Given the description of an element on the screen output the (x, y) to click on. 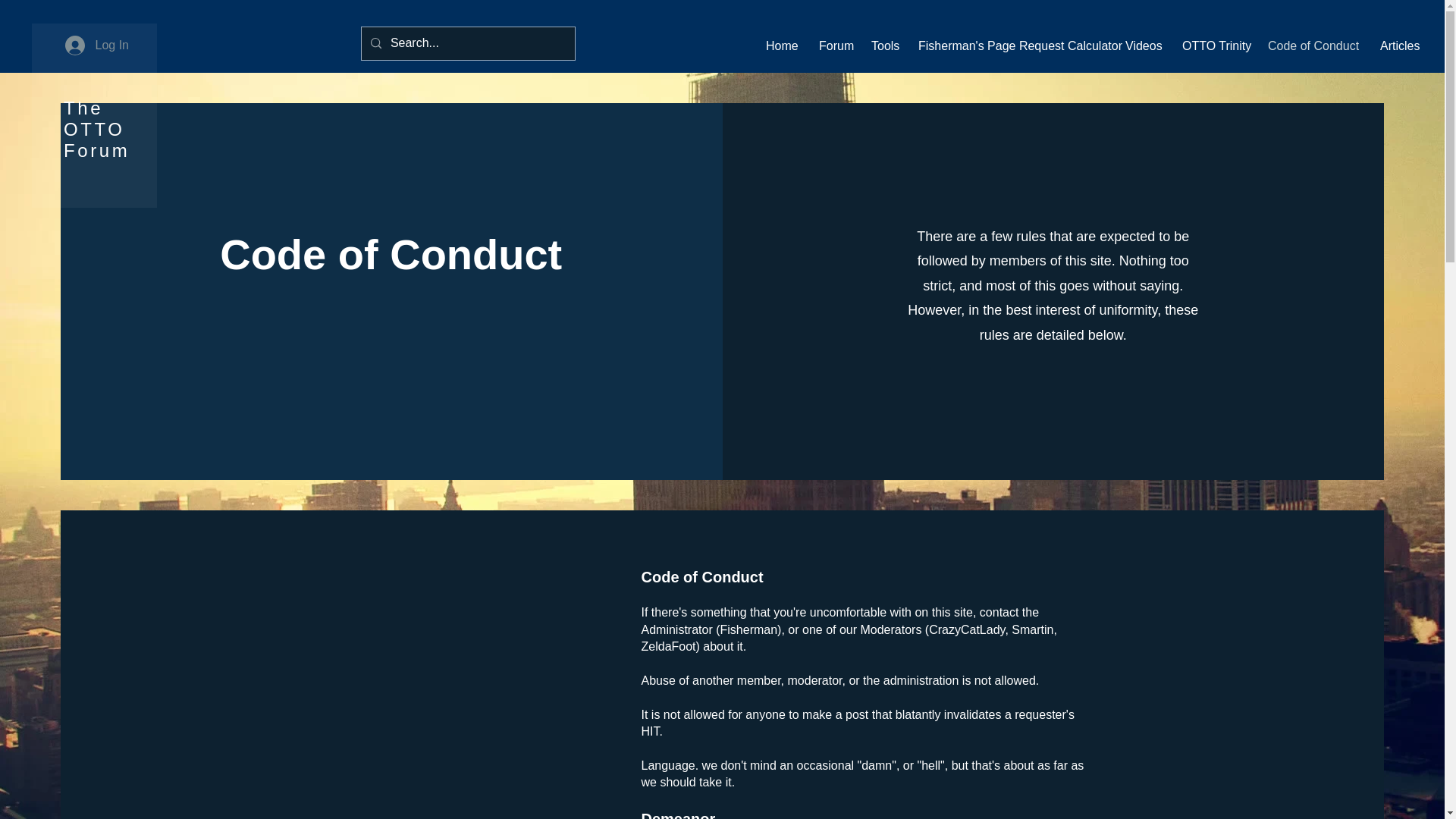
Home (781, 46)
Forum (834, 46)
Tools (883, 46)
Articles (1397, 46)
Videos (1141, 46)
The OTTO Forum (96, 128)
Code of Conduct (1312, 46)
Log In (97, 45)
OTTO Trinity (1213, 46)
Fisherman's Page Request Calculator (1010, 46)
